Given the description of an element on the screen output the (x, y) to click on. 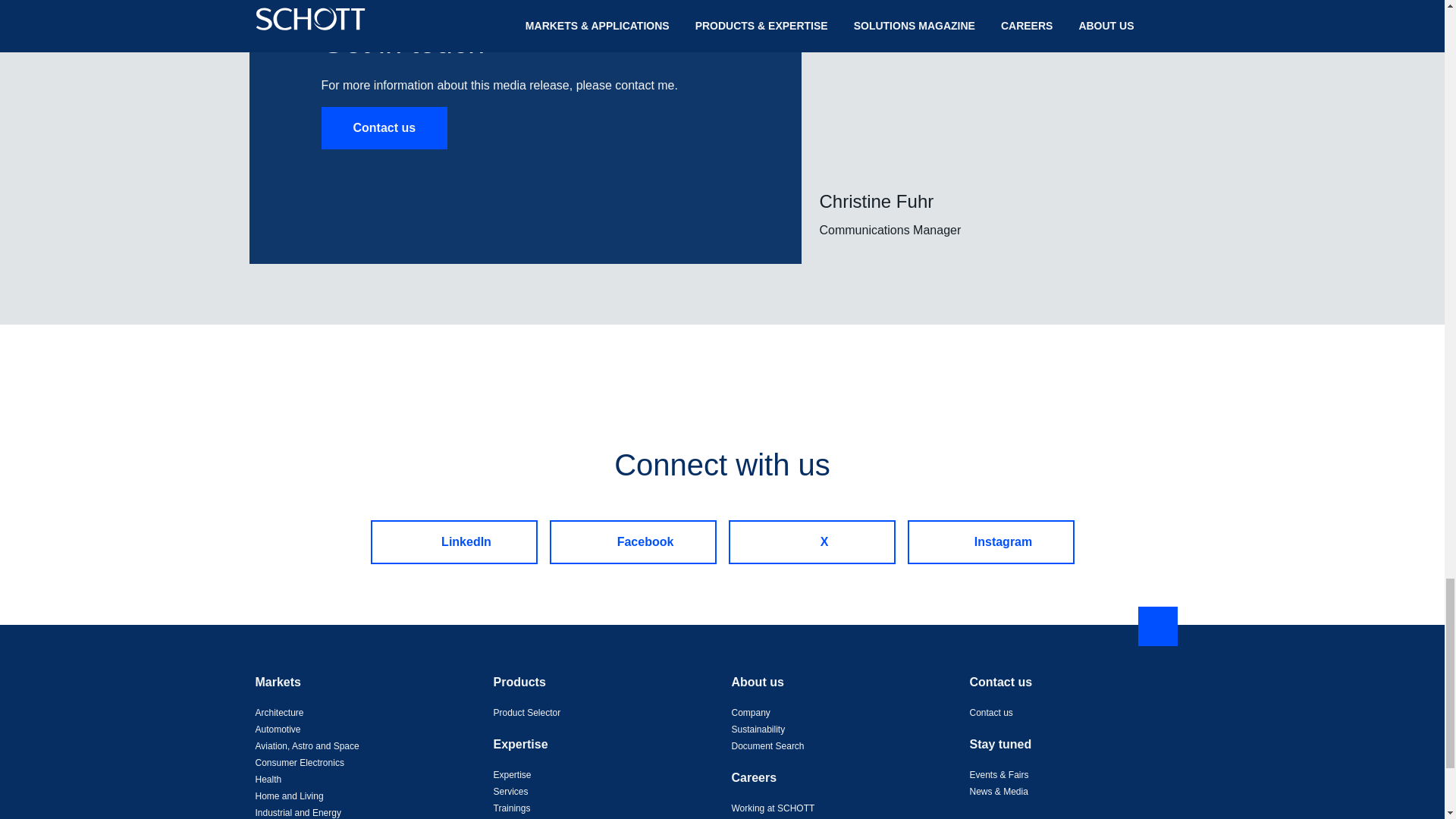
Architecture (278, 711)
Expertise (512, 774)
Health (267, 778)
Product Selector (526, 711)
Home and Living (288, 795)
Industrial and Energy (297, 811)
Aviation, Astro and Space (306, 745)
Consumer Electronics (298, 761)
Automotive (276, 728)
Company (750, 711)
Trainings (511, 807)
Services (510, 790)
